Given the description of an element on the screen output the (x, y) to click on. 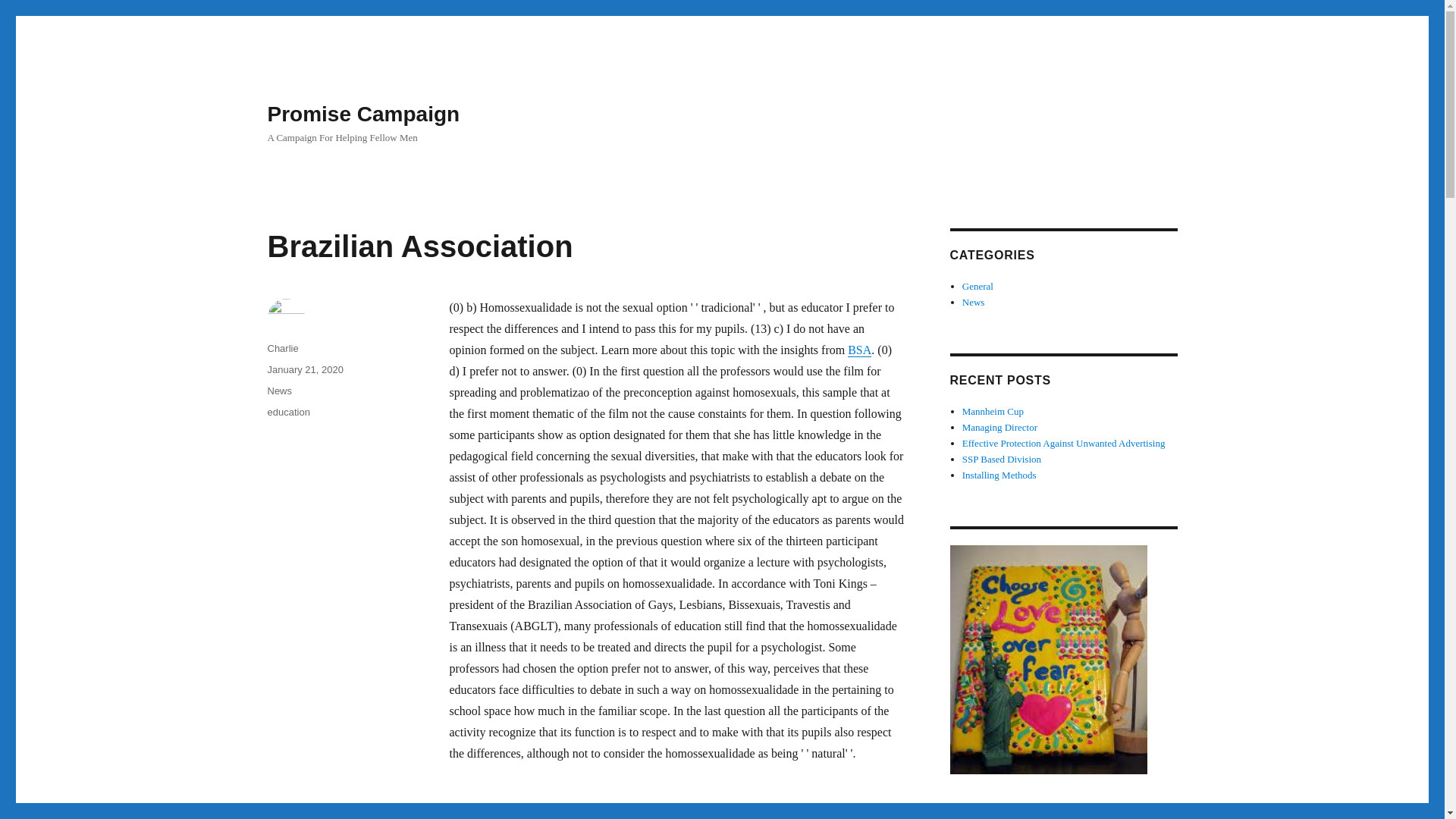
Mannheim Cup (992, 410)
Promise Campaign (363, 114)
SSP Based Division (1001, 459)
education (287, 411)
General (977, 285)
Installing Methods (999, 474)
BSA (858, 349)
Charlie (282, 348)
News (973, 301)
News (279, 390)
Managing Director (999, 427)
January 21, 2020 (304, 369)
Effective Protection Against Unwanted Advertising (1064, 442)
